Given the description of an element on the screen output the (x, y) to click on. 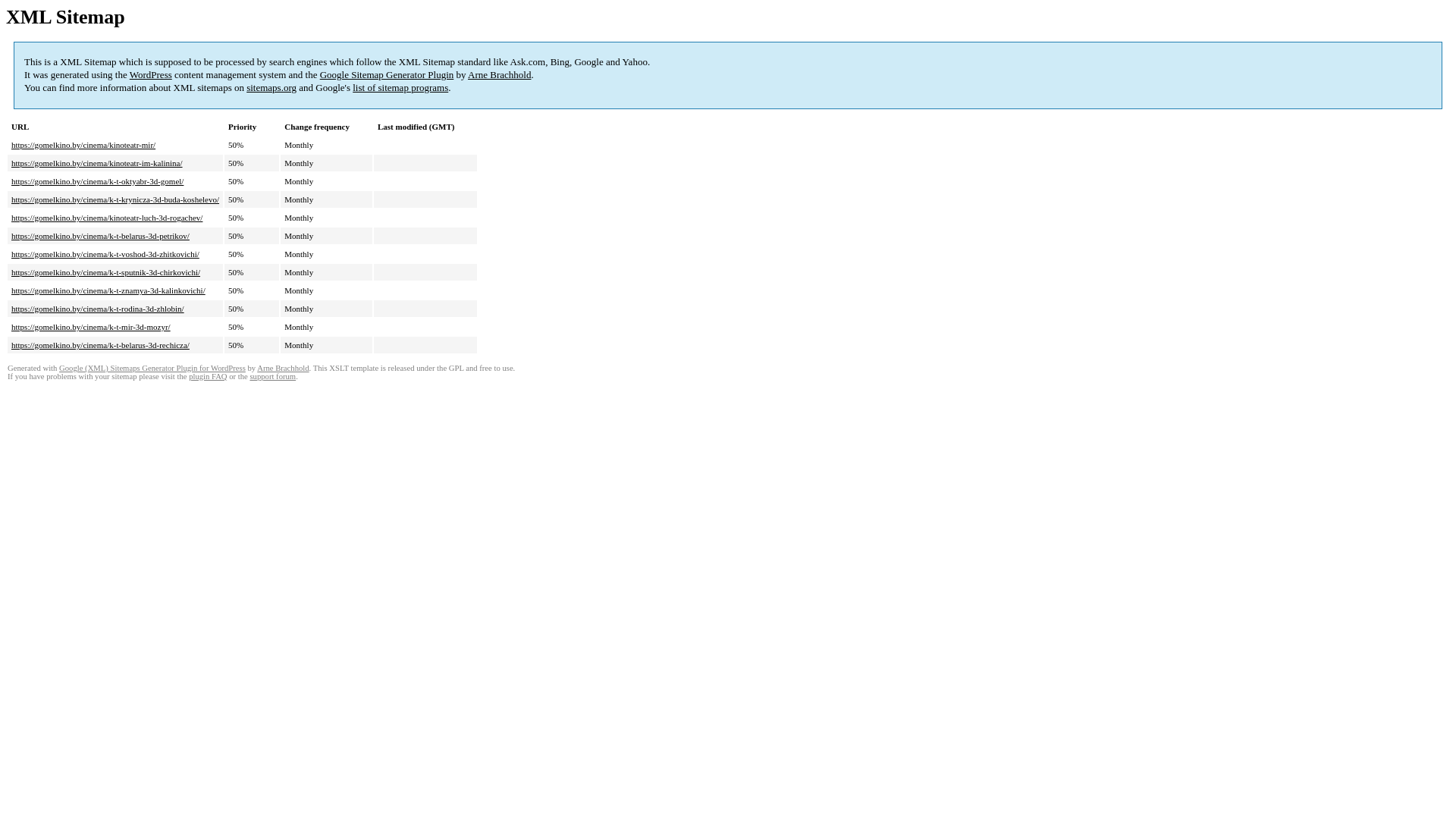
https://gomelkino.by/cinema/kinoteatr-mir/ Element type: text (83, 144)
list of sitemap programs Element type: text (400, 87)
Arne Brachhold Element type: text (498, 74)
https://gomelkino.by/cinema/k-t-belarus-3d-petrikov/ Element type: text (100, 235)
Arne Brachhold Element type: text (282, 368)
https://gomelkino.by/cinema/k-t-oktyabr-3d-gomel/ Element type: text (97, 180)
support forum Element type: text (272, 376)
https://gomelkino.by/cinema/k-t-belarus-3d-rechicza/ Element type: text (100, 344)
Google (XML) Sitemaps Generator Plugin for WordPress Element type: text (152, 368)
WordPress Element type: text (150, 74)
https://gomelkino.by/cinema/kinoteatr-im-kalinina/ Element type: text (96, 162)
plugin FAQ Element type: text (207, 376)
https://gomelkino.by/cinema/k-t-rodina-3d-zhlobin/ Element type: text (97, 308)
https://gomelkino.by/cinema/kinoteatr-luch-3d-rogachev/ Element type: text (106, 217)
Google Sitemap Generator Plugin Element type: text (387, 74)
https://gomelkino.by/cinema/k-t-voshod-3d-zhitkovichi/ Element type: text (105, 253)
sitemaps.org Element type: text (271, 87)
https://gomelkino.by/cinema/k-t-znamya-3d-kalinkovichi/ Element type: text (108, 289)
https://gomelkino.by/cinema/k-t-sputnik-3d-chirkovichi/ Element type: text (105, 271)
https://gomelkino.by/cinema/k-t-mir-3d-mozyr/ Element type: text (90, 326)
https://gomelkino.by/cinema/k-t-krynicza-3d-buda-koshelevo/ Element type: text (115, 198)
